Given the description of an element on the screen output the (x, y) to click on. 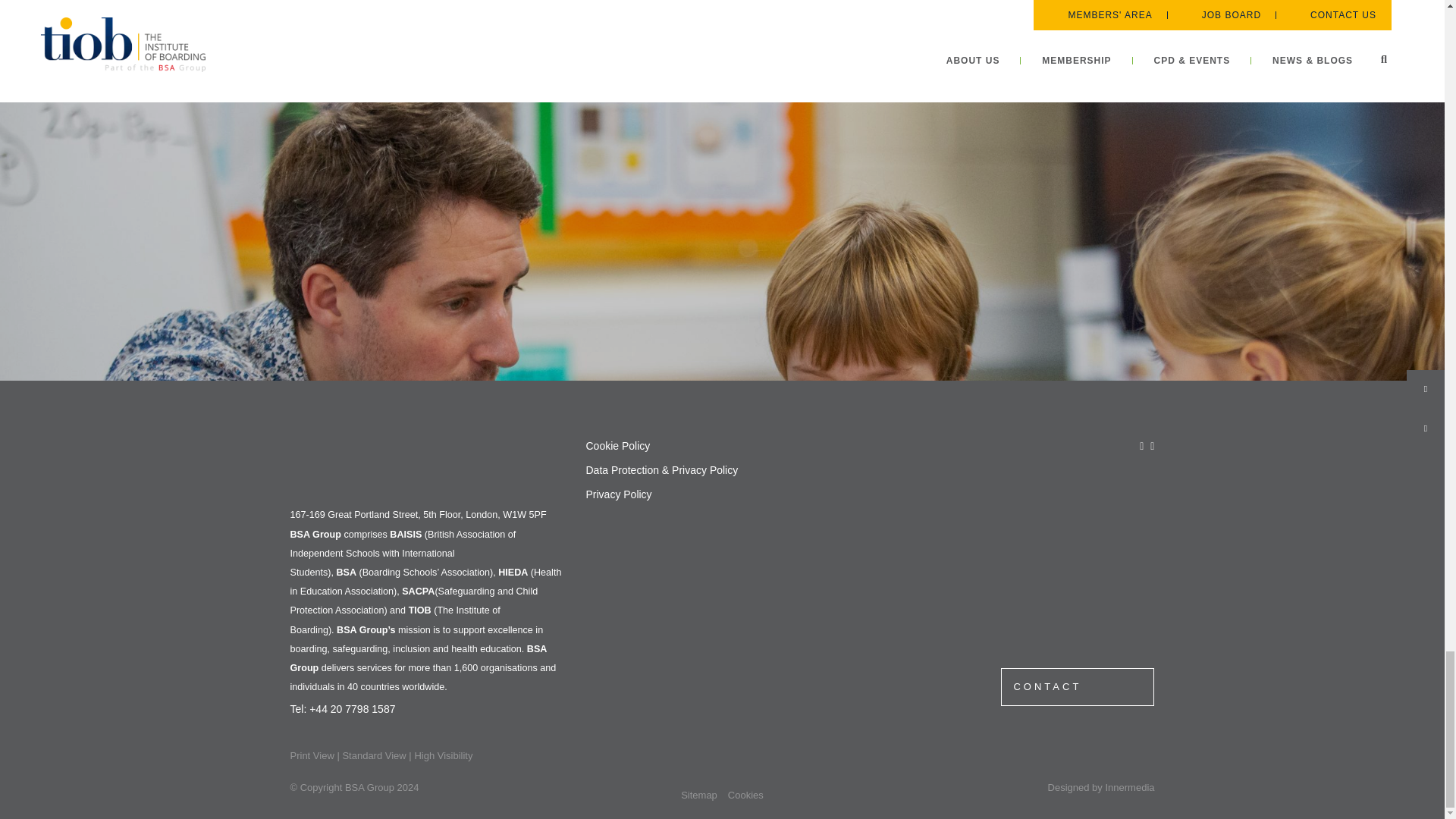
Switch to Standard Visibility (374, 755)
Switch to Print (311, 755)
Switch to High Visibility (442, 755)
